Given the description of an element on the screen output the (x, y) to click on. 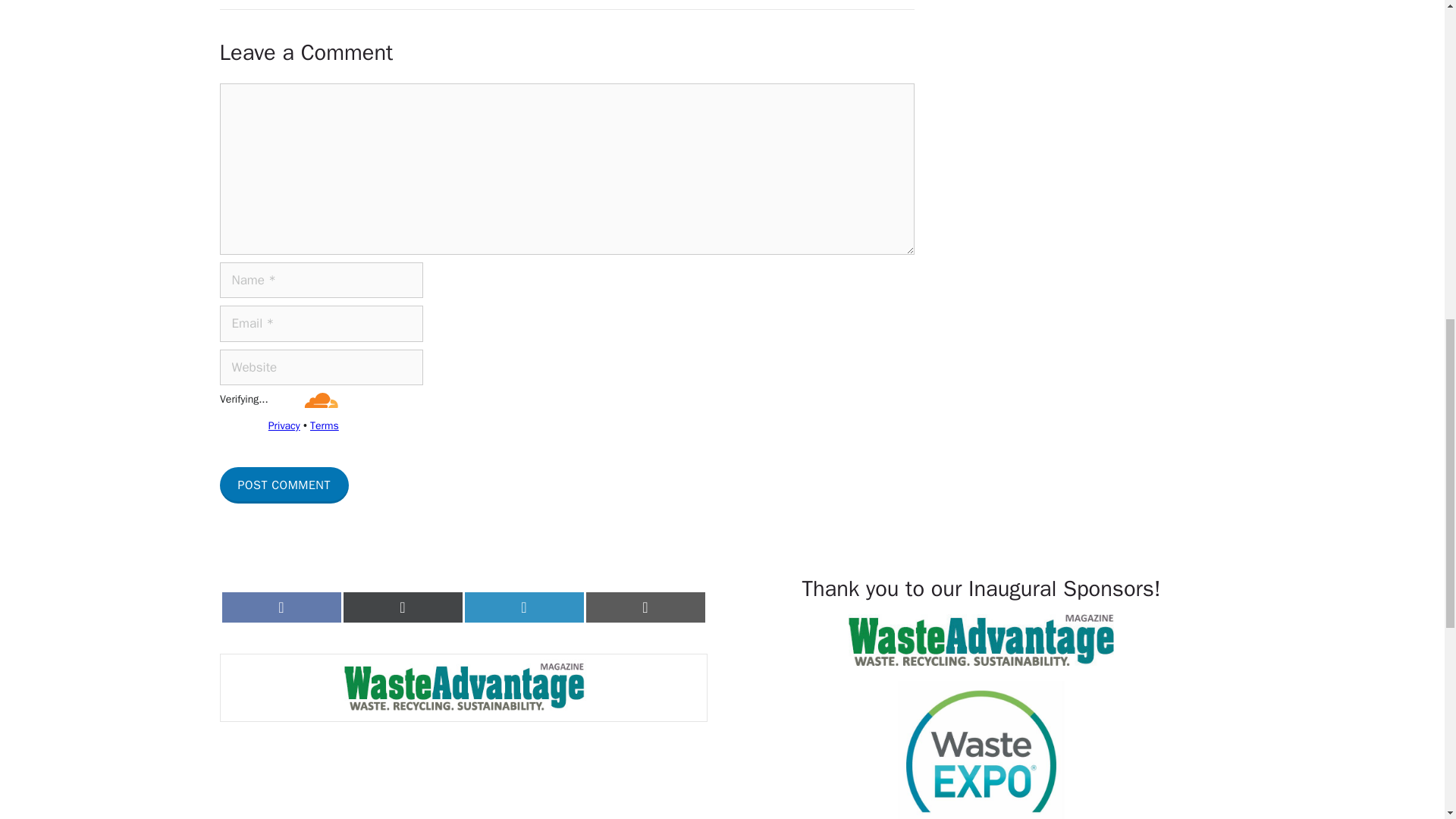
Share on LinkedIn (523, 607)
Post Comment (284, 484)
Share on Facebook (280, 607)
Post Comment (284, 484)
